Given the description of an element on the screen output the (x, y) to click on. 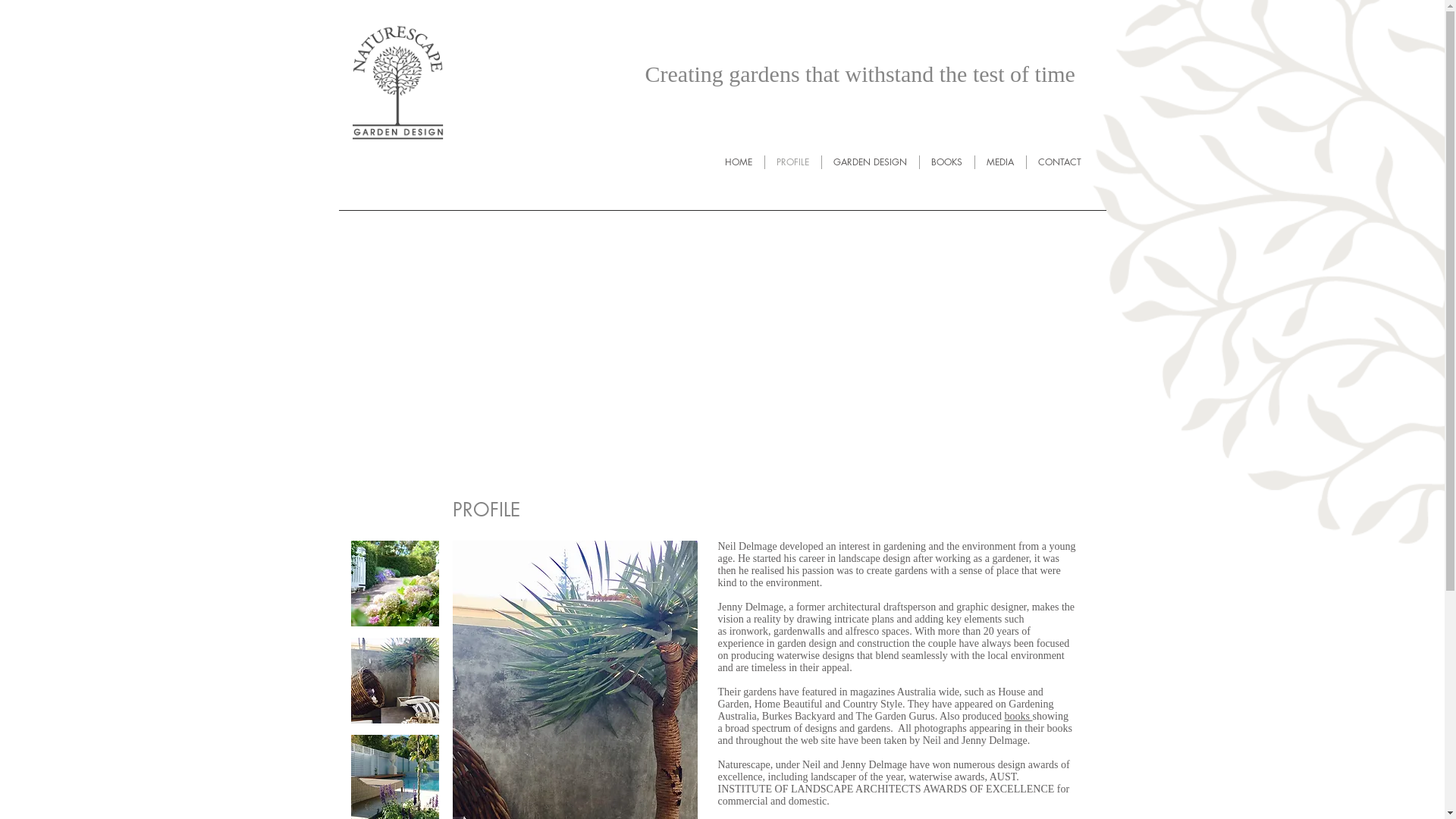
Naturescape Garden Designs & Landscaping Perth Element type: hover (393, 72)
books Element type: text (1018, 715)
CONTACT Element type: text (1058, 162)
PROFILE Element type: text (792, 162)
BOOKS Element type: text (946, 162)
HOME Element type: text (737, 162)
MEDIA Element type: text (999, 162)
